Given the description of an element on the screen output the (x, y) to click on. 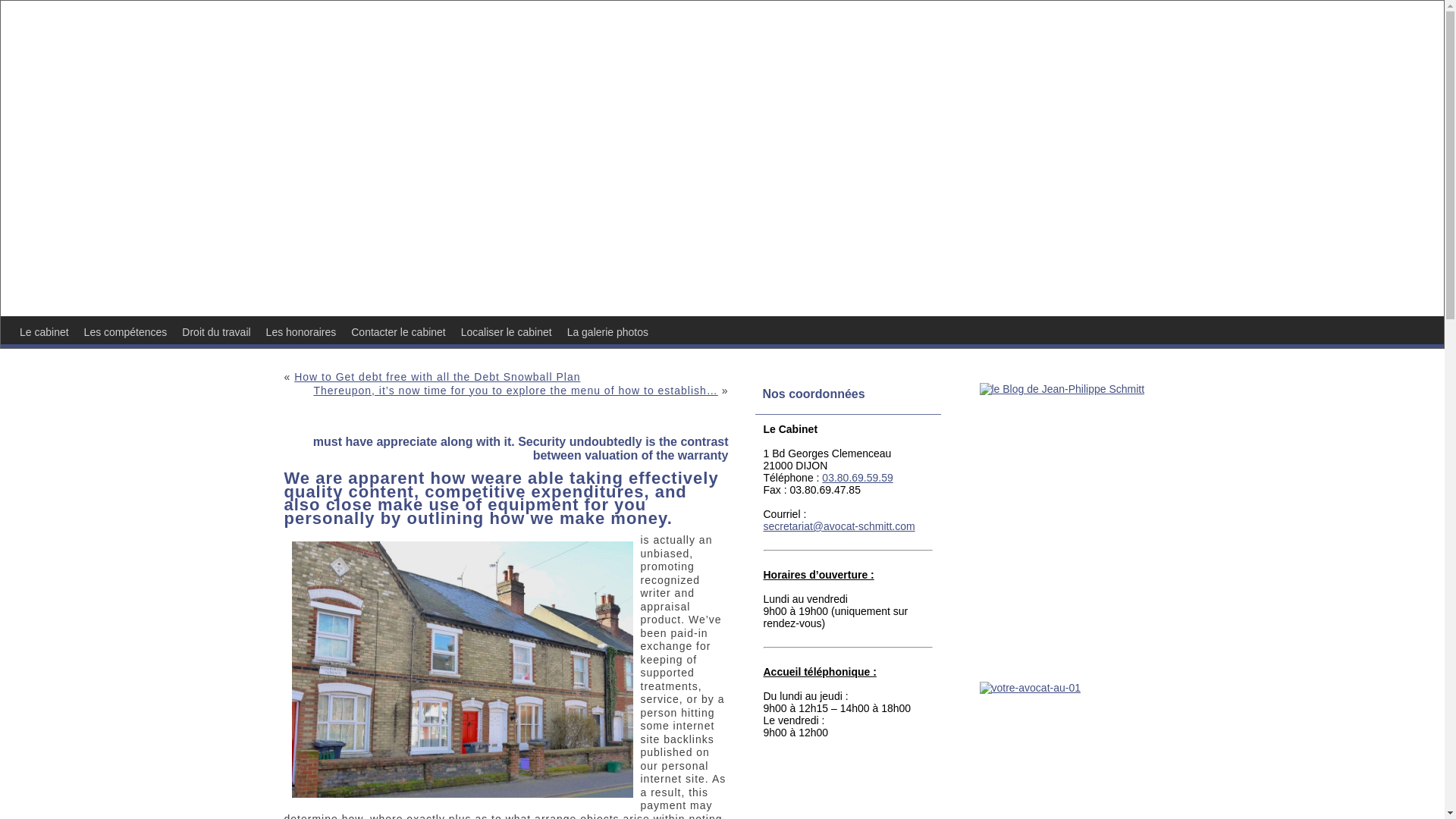
Droit du travail (216, 332)
03.80.69.59.59 (857, 477)
Droit du travail (216, 332)
Le cabinet (44, 332)
Contacter le cabinet (398, 332)
Les honoraires (301, 332)
Localiser le cabinet (505, 332)
La galerie photos (606, 332)
Le cabinet (44, 332)
Contacter le cabinet (398, 332)
